Given the description of an element on the screen output the (x, y) to click on. 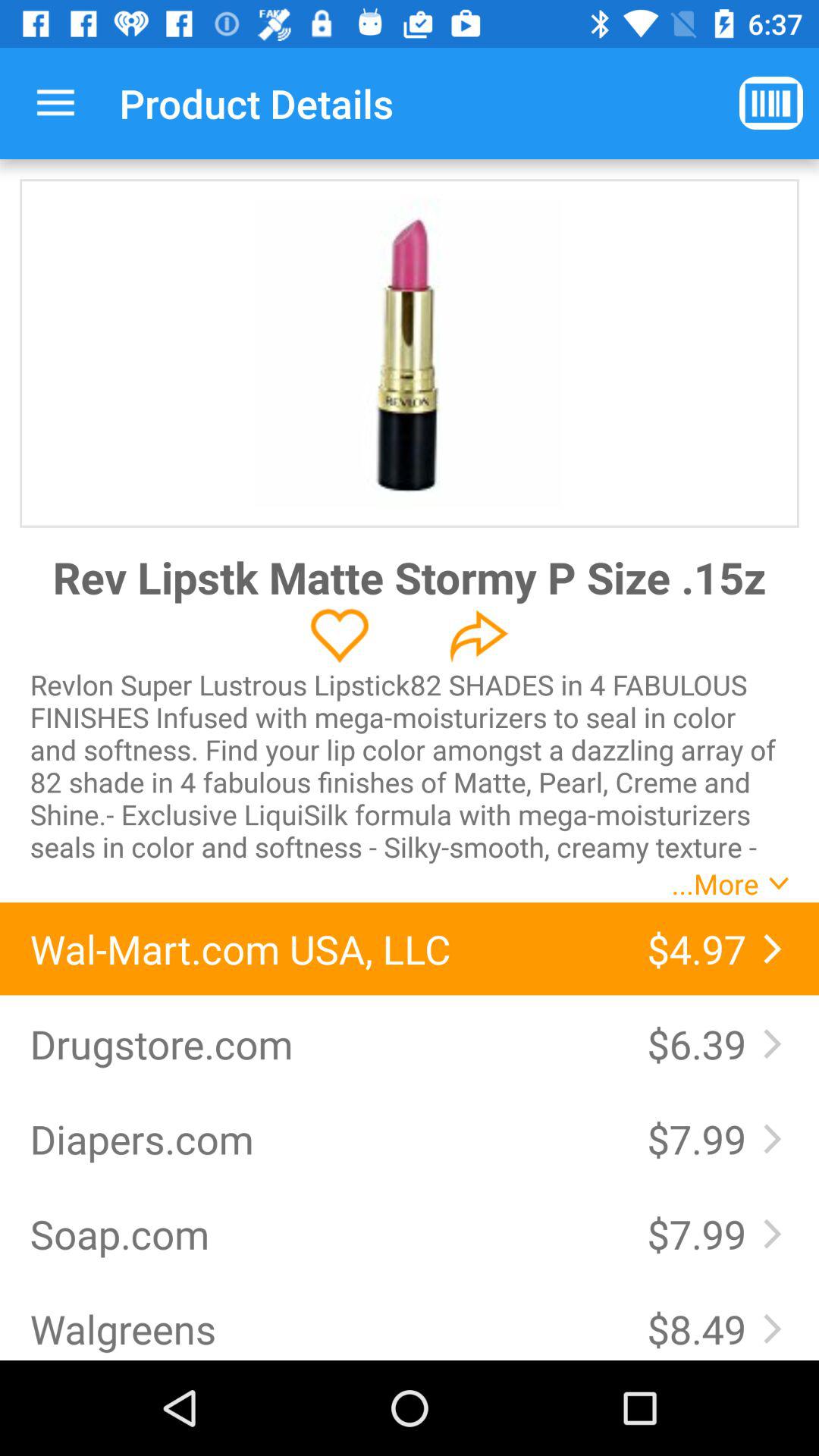
turn on app to the right of the product details app (771, 103)
